Given the description of an element on the screen output the (x, y) to click on. 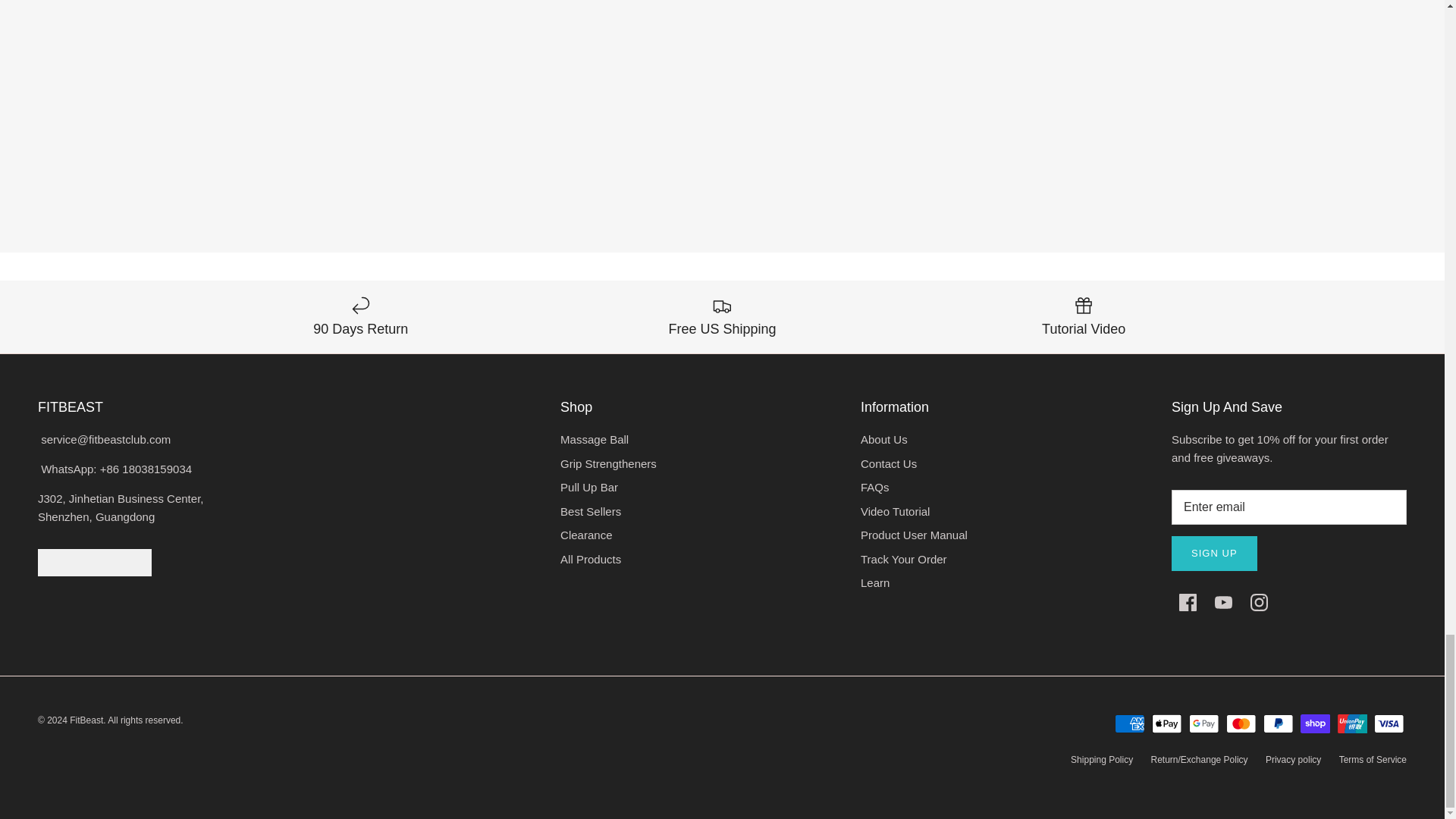
Instagram (1259, 601)
Apple Pay (1166, 723)
Google Pay (1203, 723)
Facebook (1187, 601)
American Express (1129, 723)
Youtube (1222, 601)
